Given the description of an element on the screen output the (x, y) to click on. 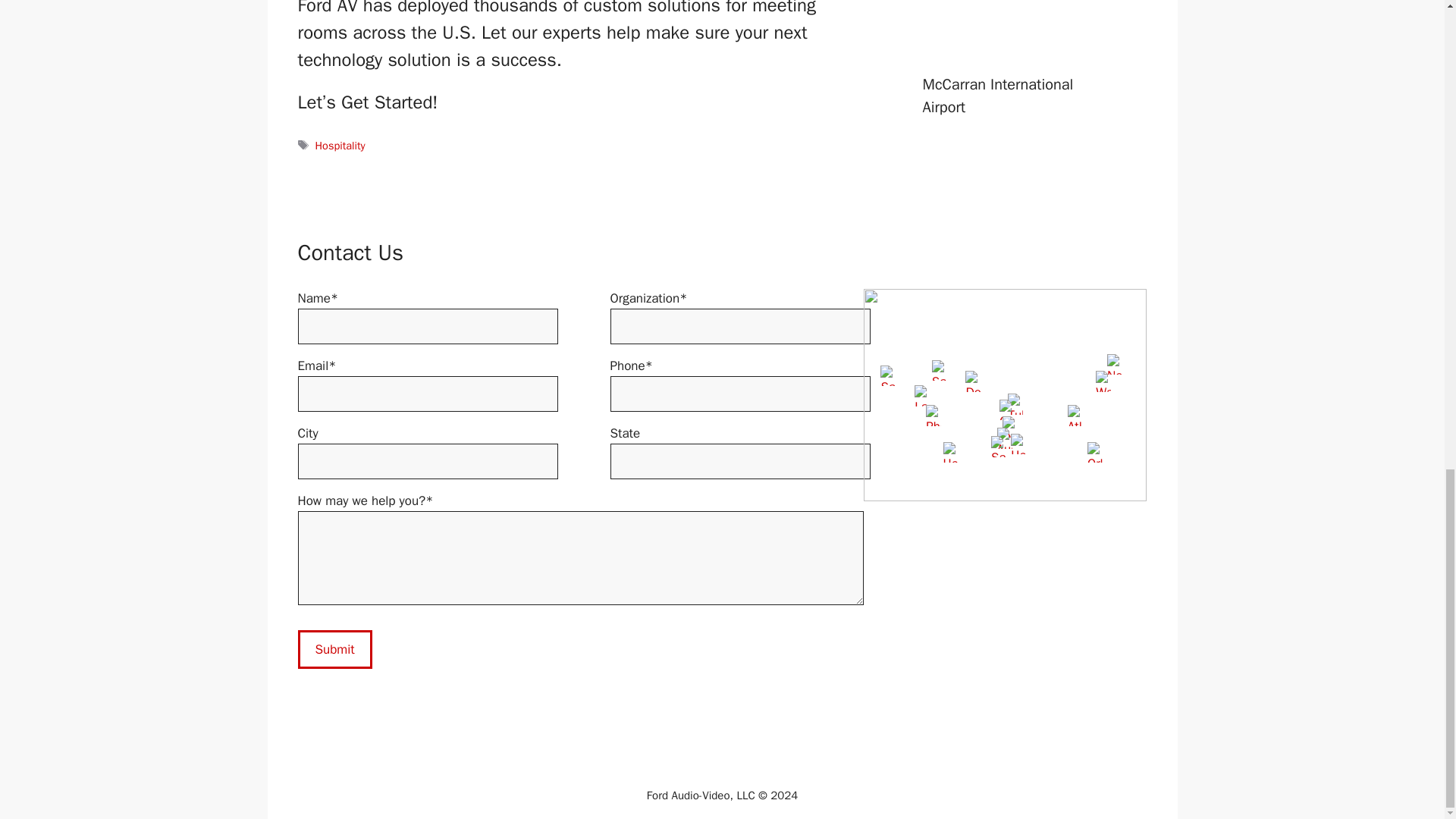
Submit (334, 649)
McCarran International Airport (997, 96)
Hospitality (340, 145)
Submit (334, 649)
